Given the description of an element on the screen output the (x, y) to click on. 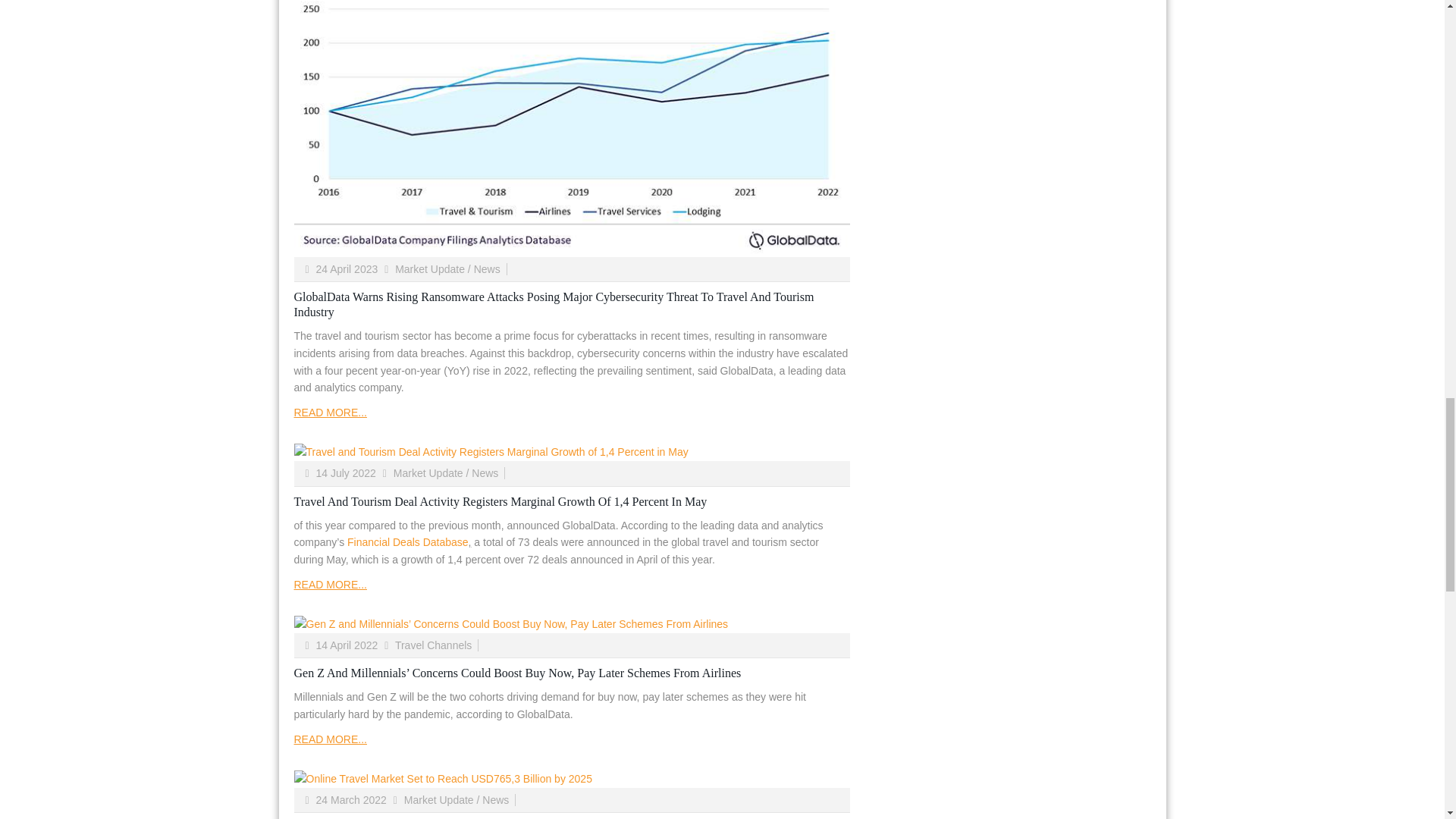
Online Travel Market Set to Reach USD765,3 Billion by 2025 (572, 778)
